Given the description of an element on the screen output the (x, y) to click on. 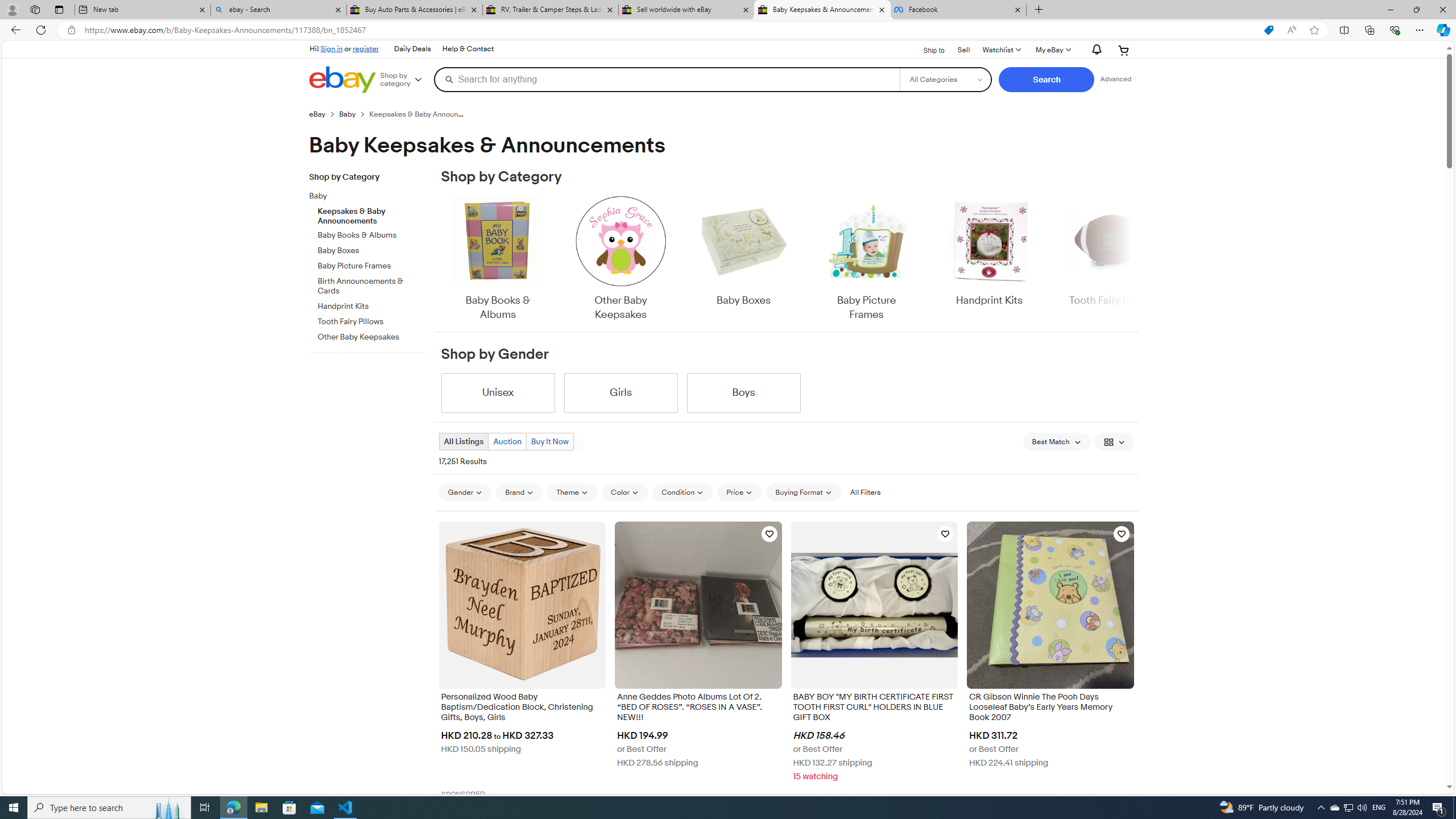
Color (624, 492)
Baby (362, 196)
Auction (506, 441)
Tooth Fairy Pillows (371, 319)
Unisex (497, 392)
Watchlist (1000, 49)
Auction (507, 441)
Birth Announcements & Cards (371, 283)
Other Baby Keepsakes (620, 258)
